Given the description of an element on the screen output the (x, y) to click on. 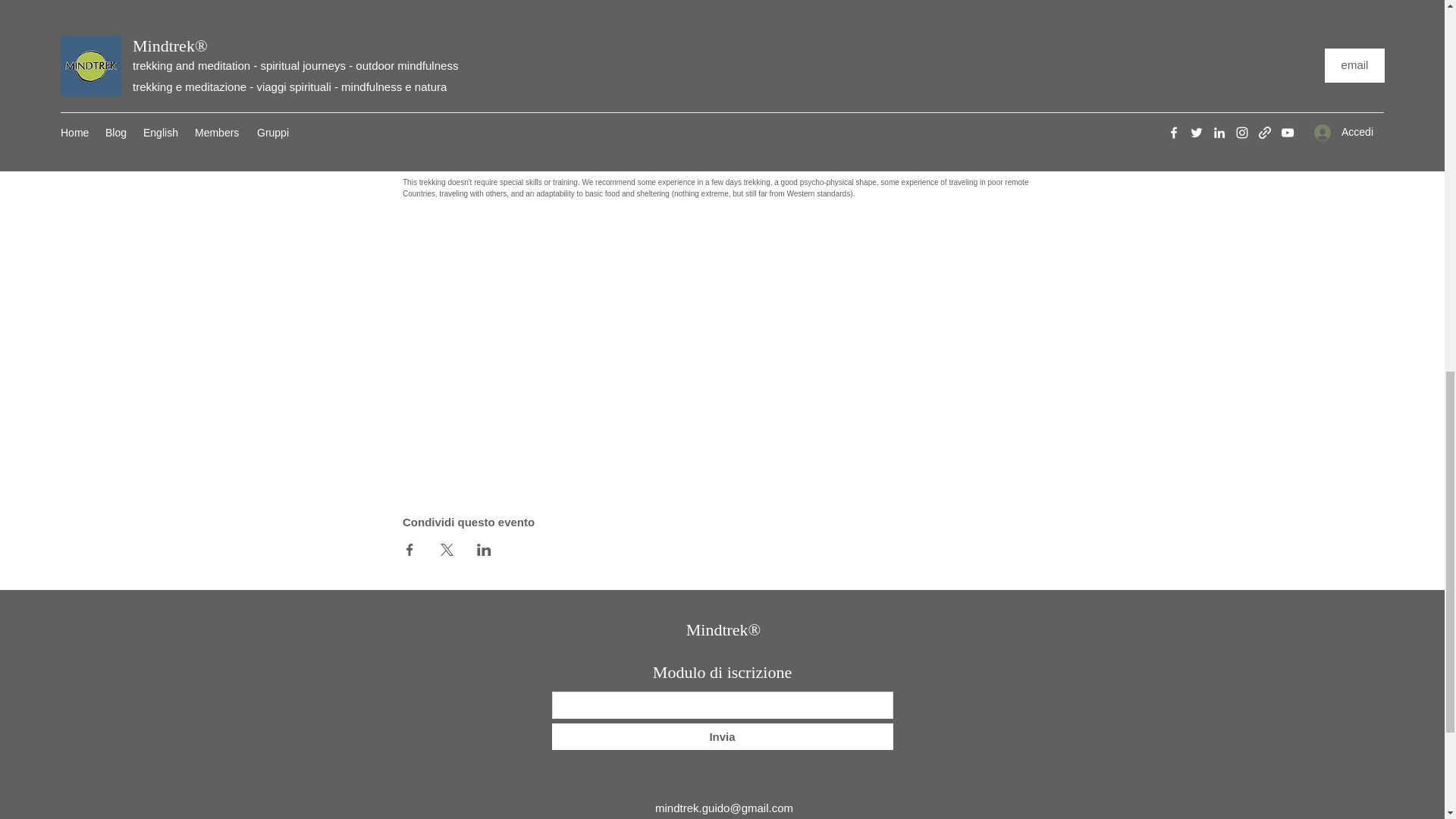
Invia (722, 736)
